Given the description of an element on the screen output the (x, y) to click on. 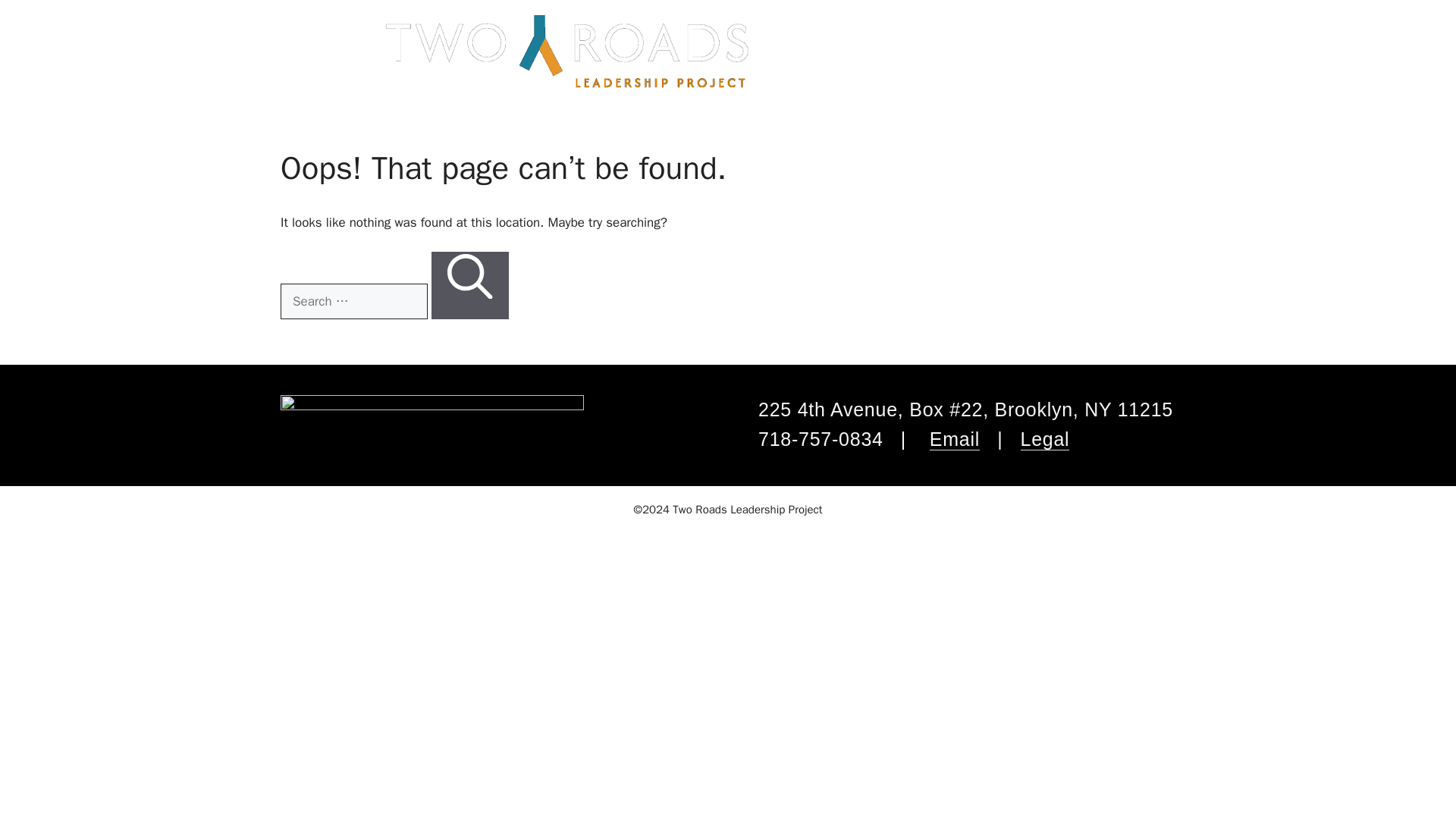
Search for: (354, 301)
Menu (68, 36)
Email (954, 439)
Legal (1045, 439)
